Given the description of an element on the screen output the (x, y) to click on. 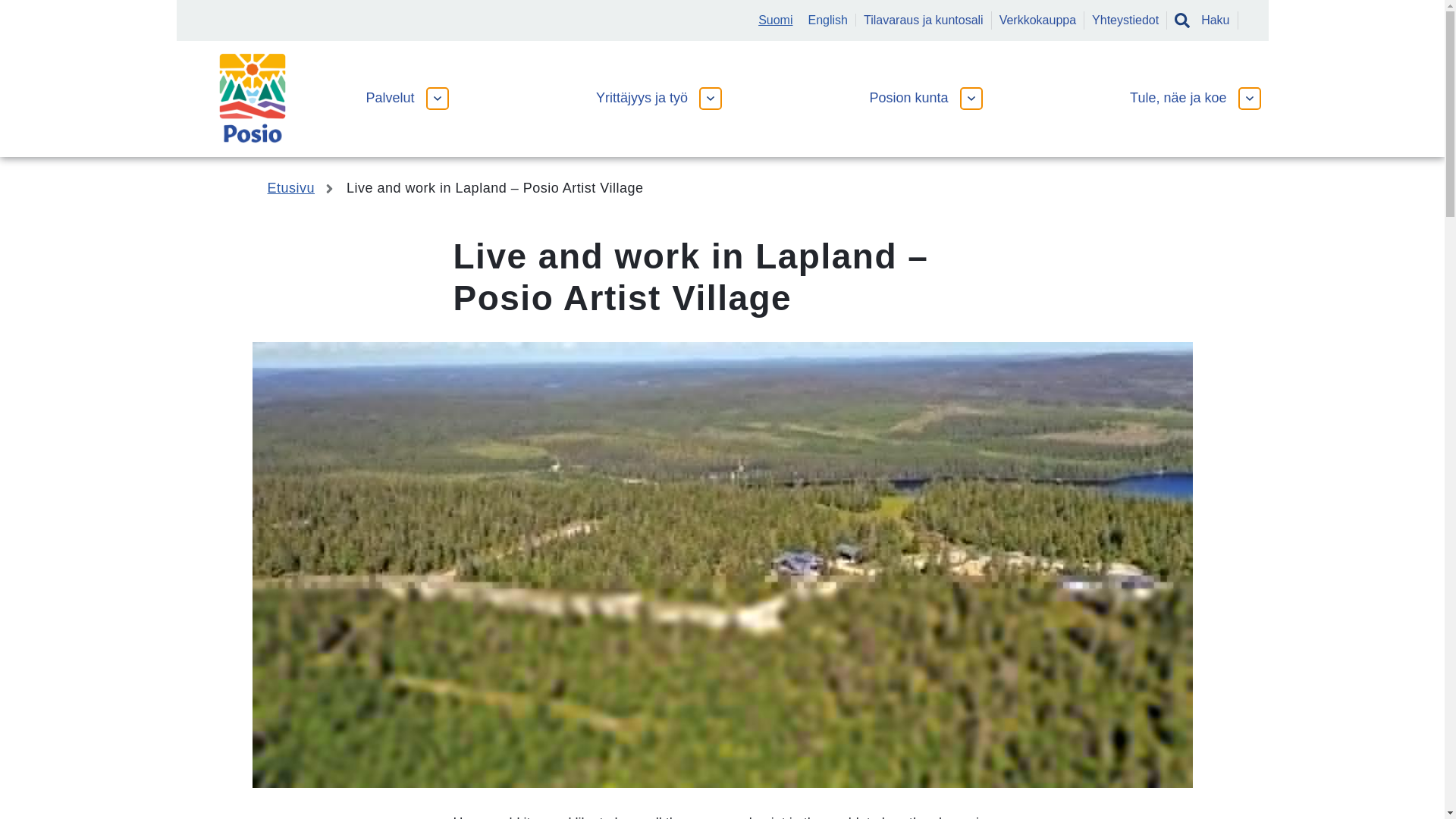
Verkkokauppa (1037, 20)
Haku (1202, 20)
Suomi (775, 19)
Yhteystiedot (1125, 20)
Tilavaraus ja kuntosali (923, 20)
English (832, 19)
